Given the description of an element on the screen output the (x, y) to click on. 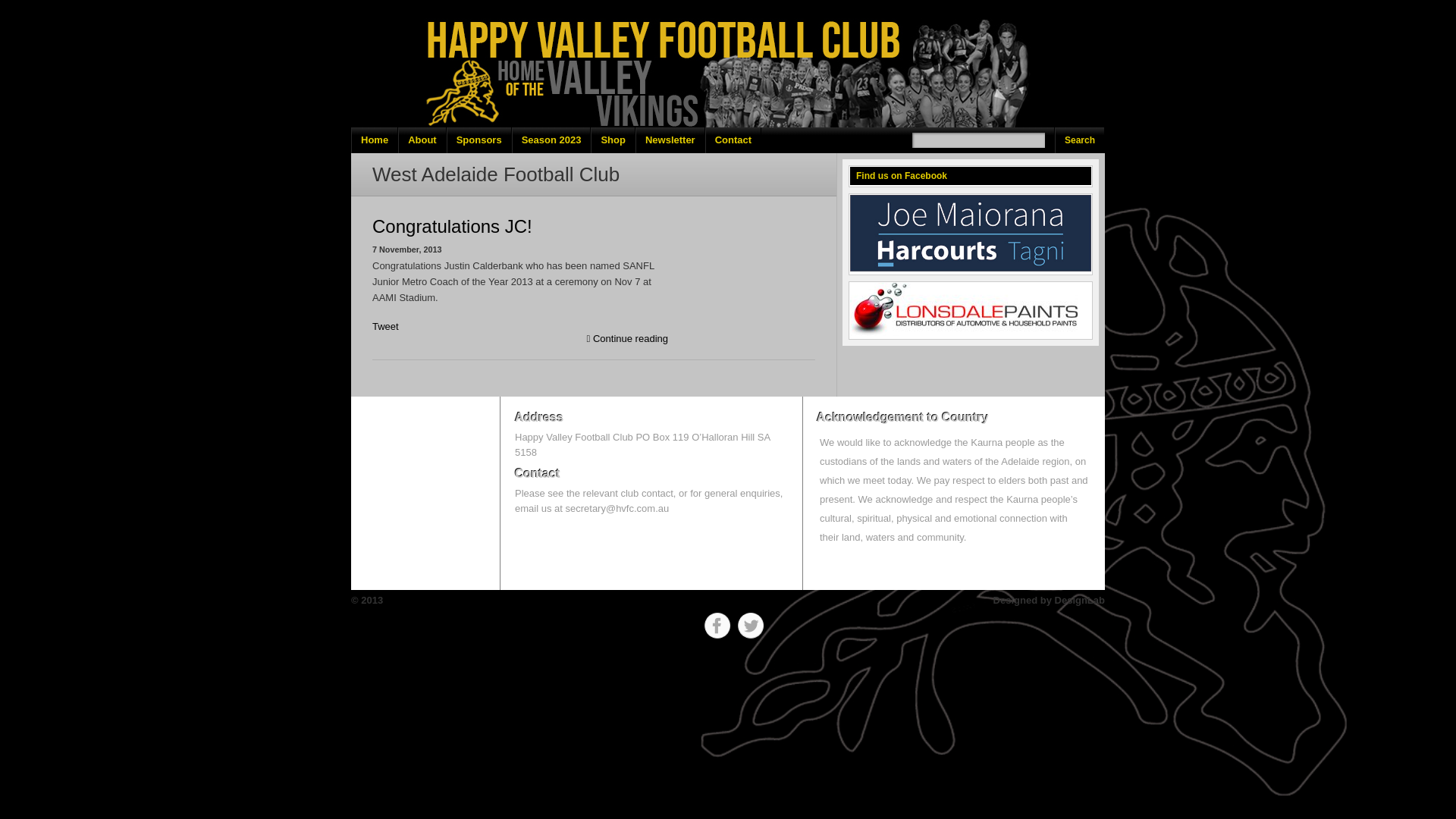
Newsletter Element type: text (670, 140)
Congratulations JC! Element type: text (452, 226)
Contact Element type: text (733, 140)
secretary@hvfc.com.au Element type: text (616, 508)
Twitter Element type: text (750, 625)
Season 2023 Element type: text (551, 140)
Sponsors Element type: text (479, 140)
Tweet Element type: text (385, 326)
DesignLab Element type: text (1079, 599)
About Element type: text (421, 140)
Shop Element type: text (612, 140)
Facebook Element type: text (717, 625)
Search Element type: text (1079, 140)
Home Element type: text (374, 140)
